Given the description of an element on the screen output the (x, y) to click on. 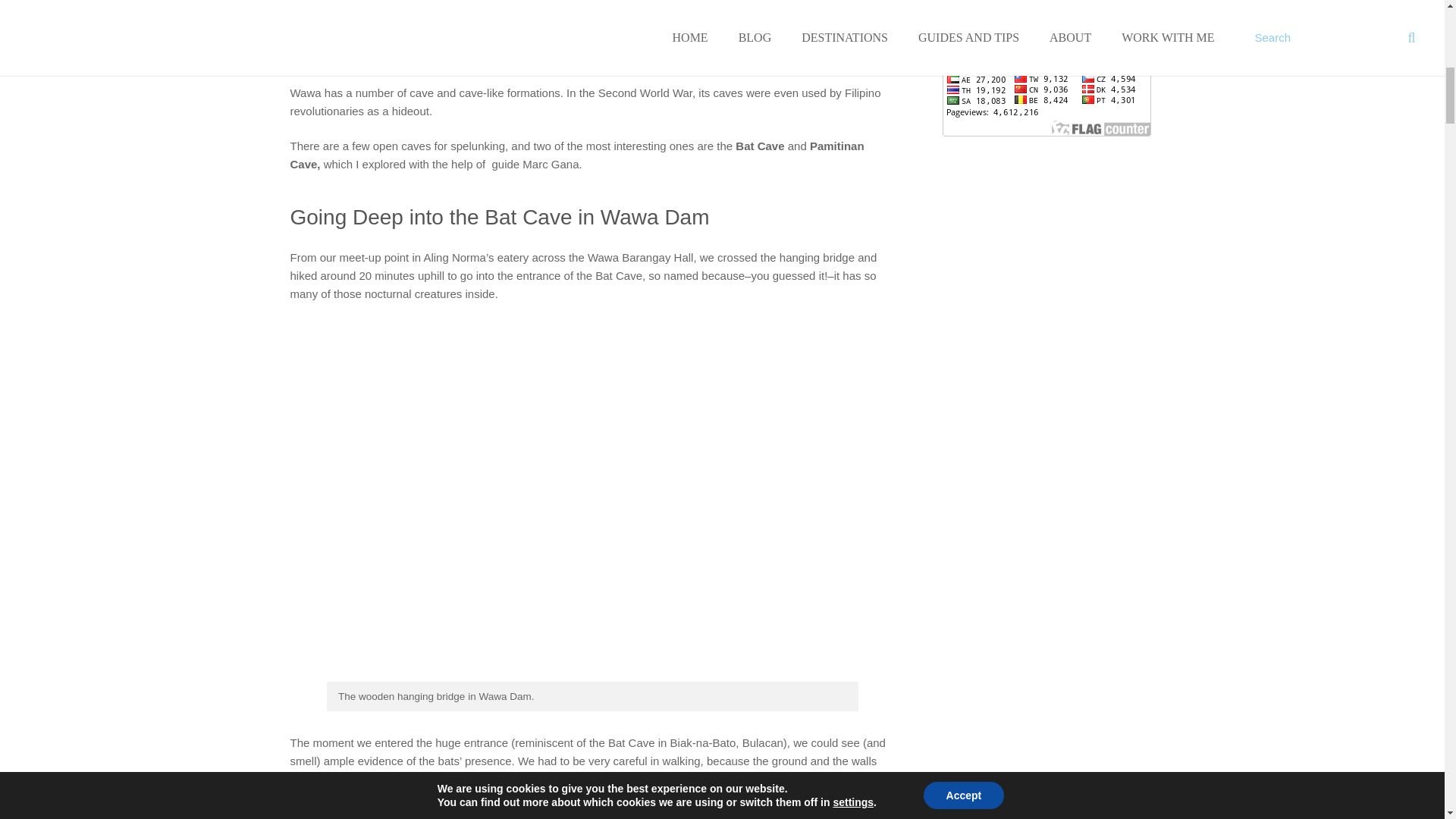
hanging-bridge by Aleah Phils, on Flickr (588, 676)
